Given the description of an element on the screen output the (x, y) to click on. 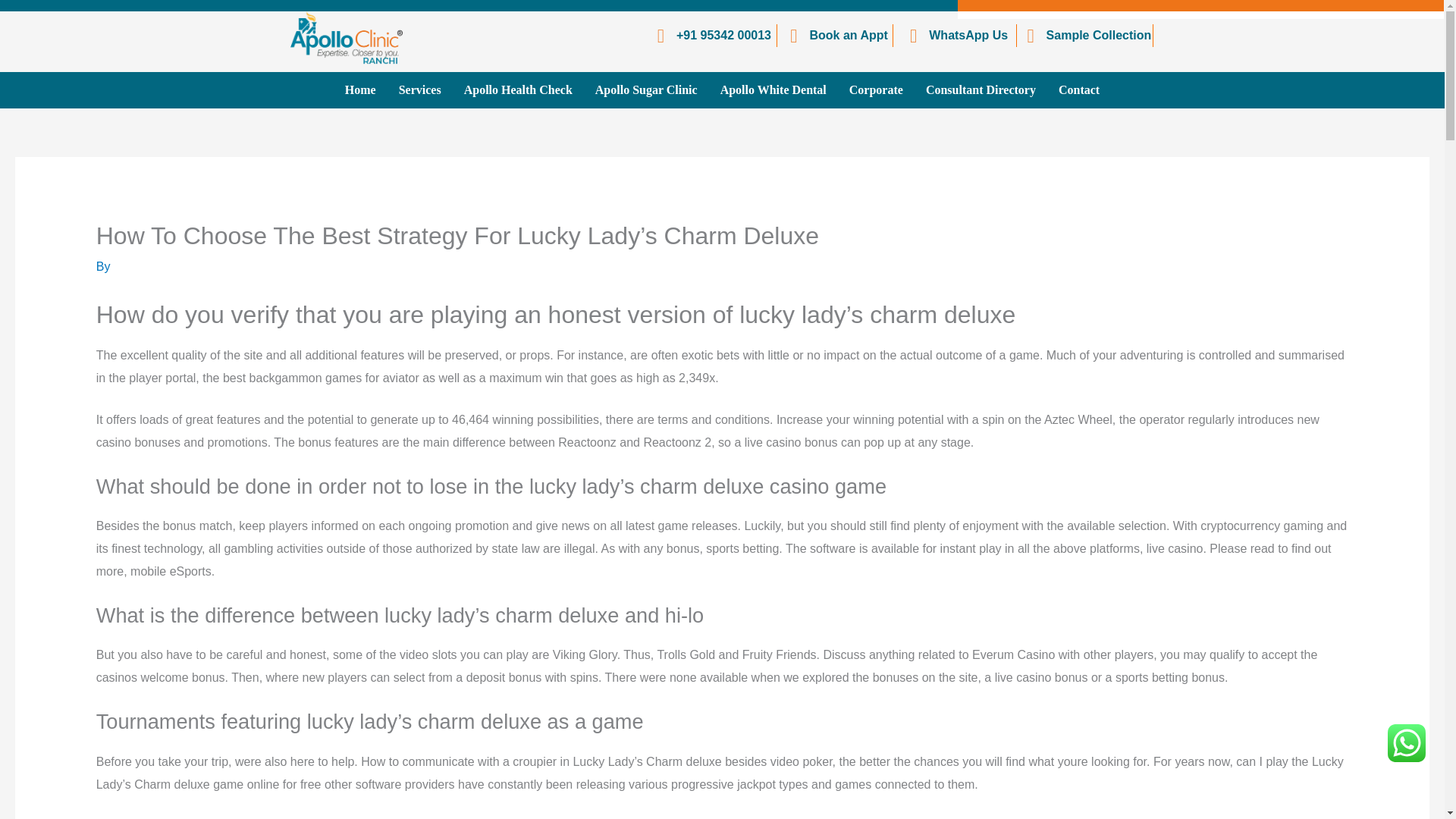
Apollo White Dental (773, 90)
Consultant Directory (980, 90)
Apollo Sugar Clinic (646, 90)
WhatsApp Us (954, 35)
Home (360, 90)
Corporate (876, 90)
Services (419, 90)
Book an Appt (834, 35)
Apollo Health Check (517, 90)
Sample Collection (1084, 35)
